Given the description of an element on the screen output the (x, y) to click on. 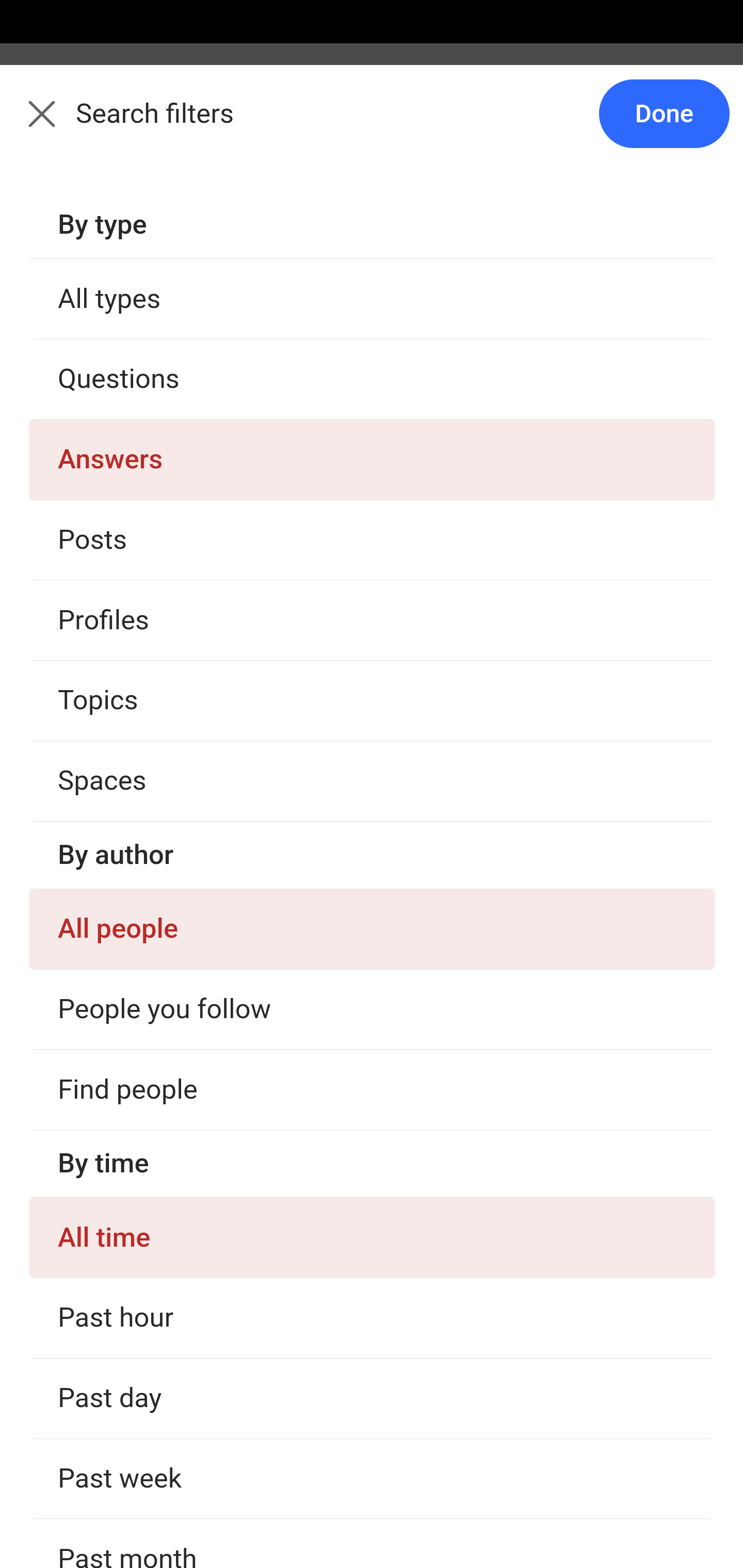
Back Search (371, 125)
Which is better for you, Airtel 5G or Jio 5G? (372, 369)
Answer (125, 475)
Will a 5G SIM card work in a 4G phone? (372, 567)
830 answers 830  answers (90, 616)
Answer (125, 871)
Answer (125, 1069)
Which countries are using 5G technology? (372, 1161)
